Given the description of an element on the screen output the (x, y) to click on. 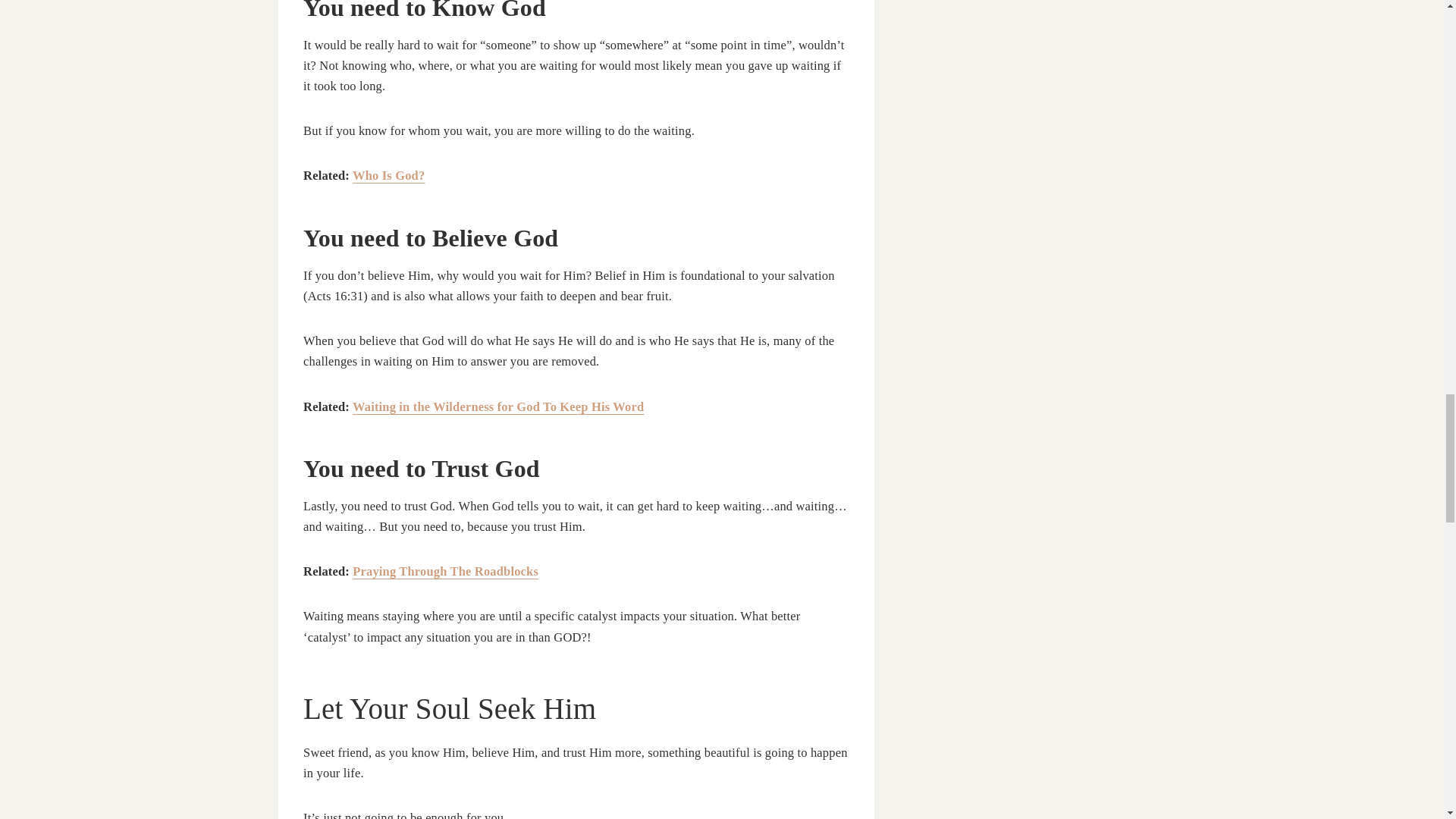
Praying Through The Roadblocks (445, 571)
Waiting in the Wilderness for God To Keep His Word (497, 406)
Who Is God? (388, 175)
